Given the description of an element on the screen output the (x, y) to click on. 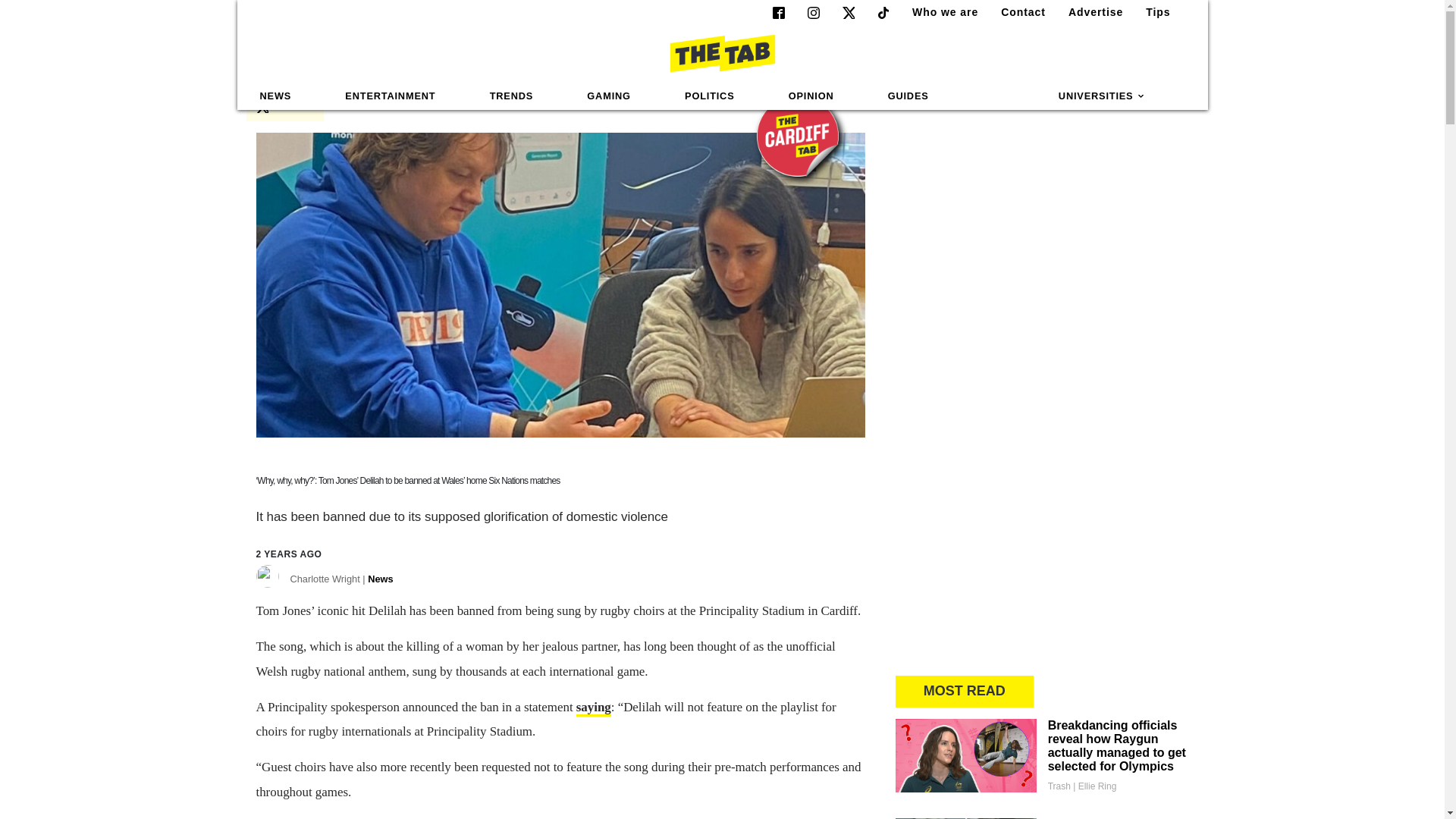
OPINION (811, 96)
ENTERTAINMENT (389, 96)
Contact (1016, 11)
Tips (1152, 11)
Posts by Charlotte Wright (341, 582)
UNIVERSITIES (1101, 96)
GAMING (608, 96)
TRENDS (511, 96)
NEWS (275, 96)
POLITICS (708, 96)
